Given the description of an element on the screen output the (x, y) to click on. 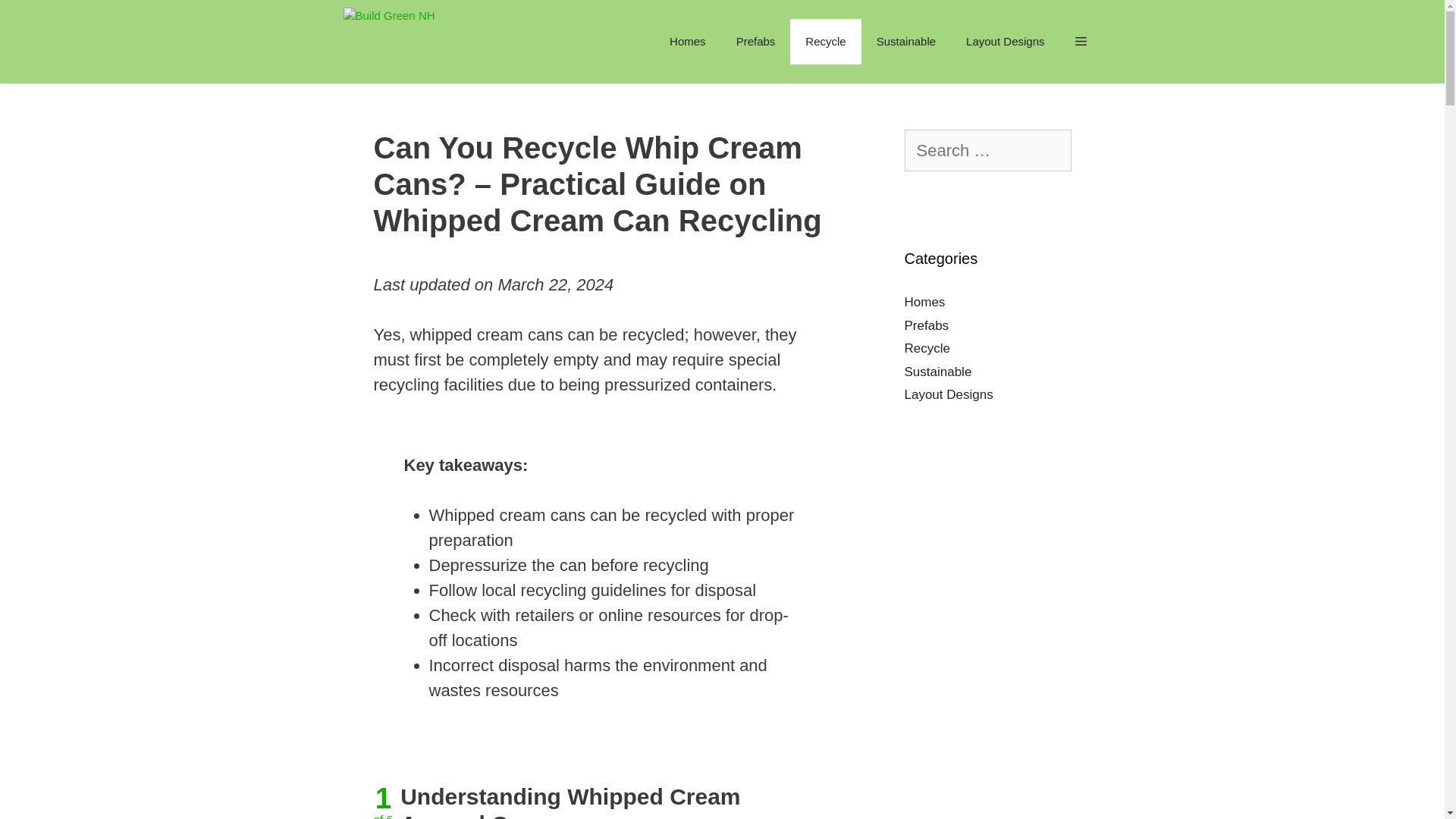
Prefabs (755, 41)
Recycle (825, 41)
Prefabs (926, 325)
Search for: (987, 150)
Build Green NH (387, 41)
Layout Designs (1004, 41)
Recycle (926, 348)
Sustainable (937, 370)
Sustainable (905, 41)
Homes (686, 41)
Search (42, 20)
Homes (924, 301)
Build Green NH (392, 41)
